Given the description of an element on the screen output the (x, y) to click on. 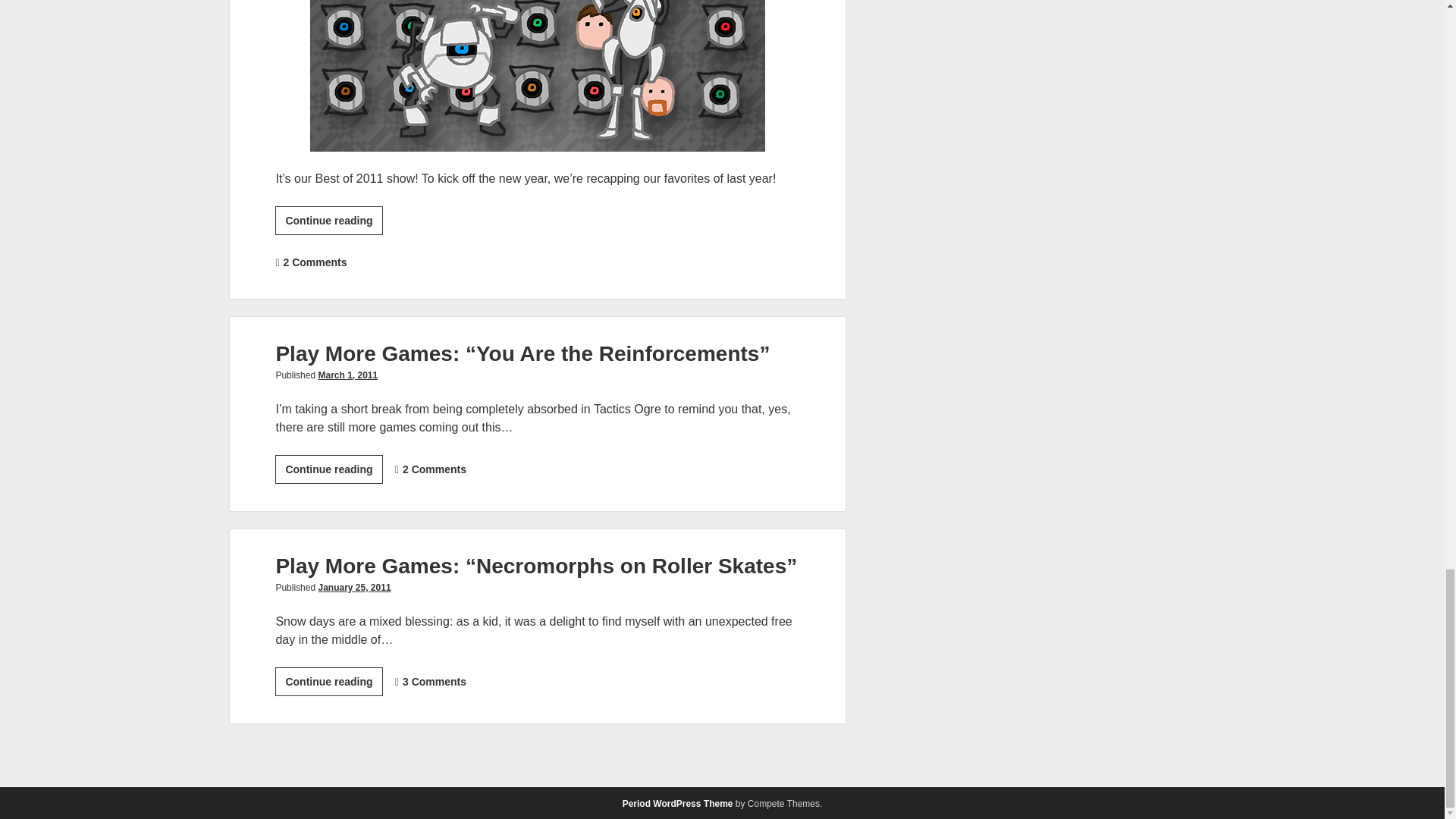
2 Comments (434, 469)
2 Comments (314, 262)
March 1, 2011 (347, 375)
